Given the description of an element on the screen output the (x, y) to click on. 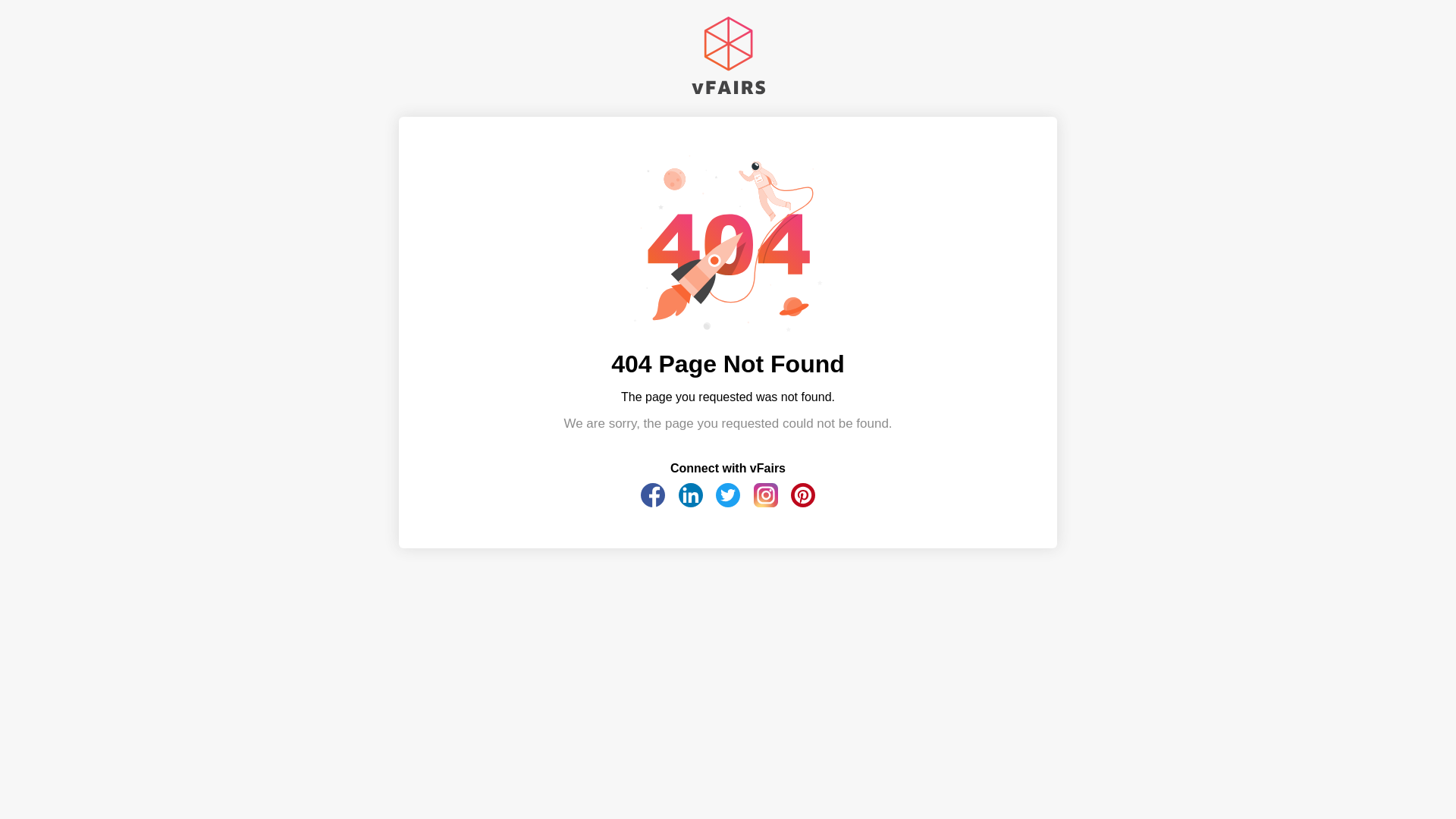
Like vFairs on Facebook (652, 502)
Follow vFairs on Pinterest (802, 502)
Follow vFairs on Instagram (765, 502)
Connect vFairs on LinkedIn (689, 502)
Follow vFairs on Twitter (727, 502)
